Given the description of an element on the screen output the (x, y) to click on. 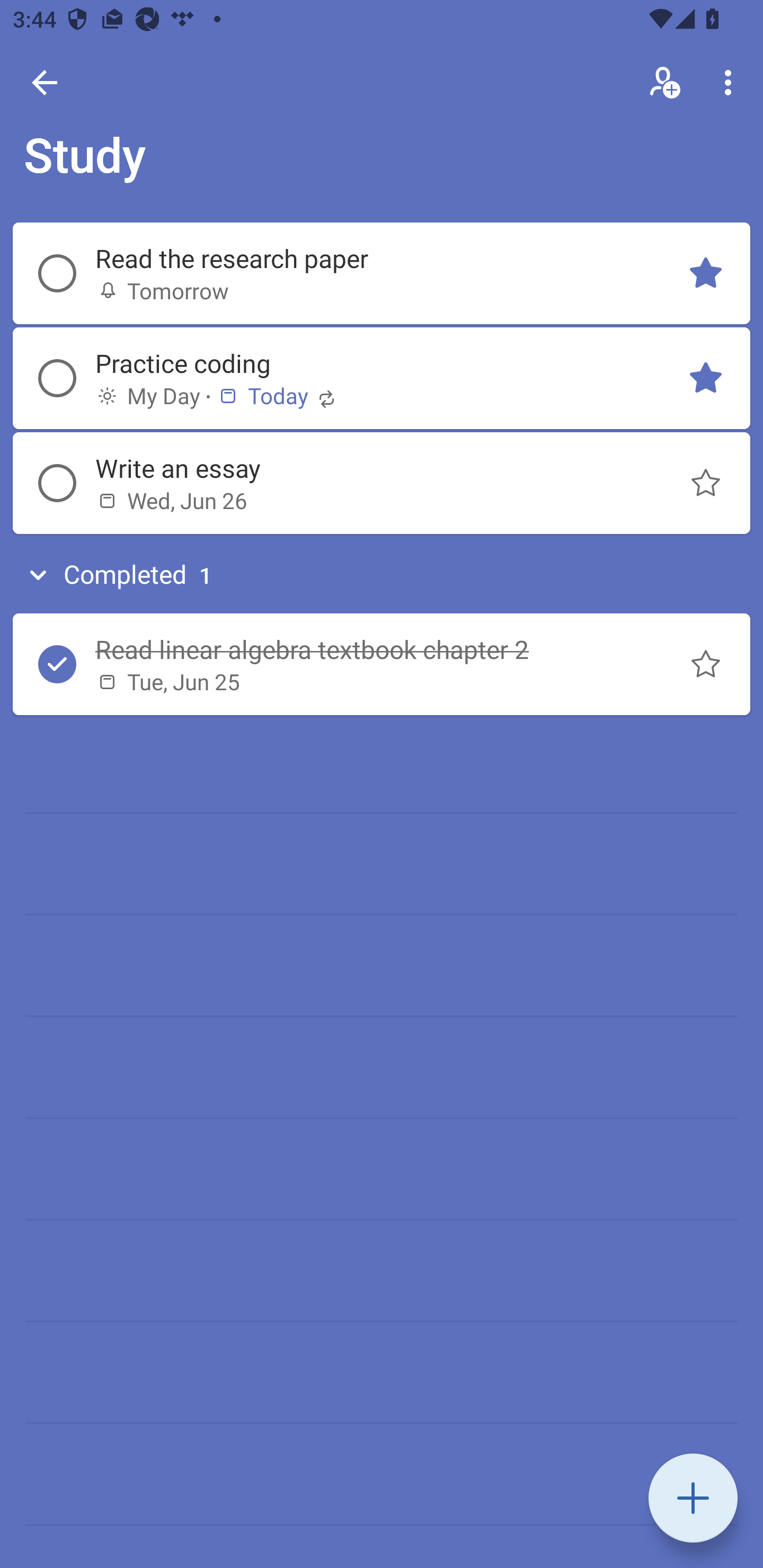
Add a task (692, 1497)
